Given the description of an element on the screen output the (x, y) to click on. 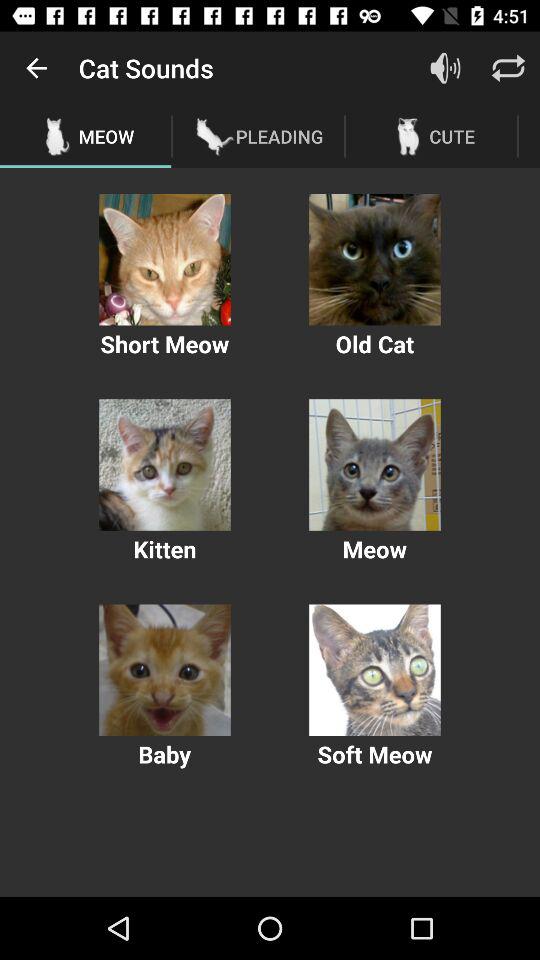
select item above the meow icon (36, 68)
